Given the description of an element on the screen output the (x, y) to click on. 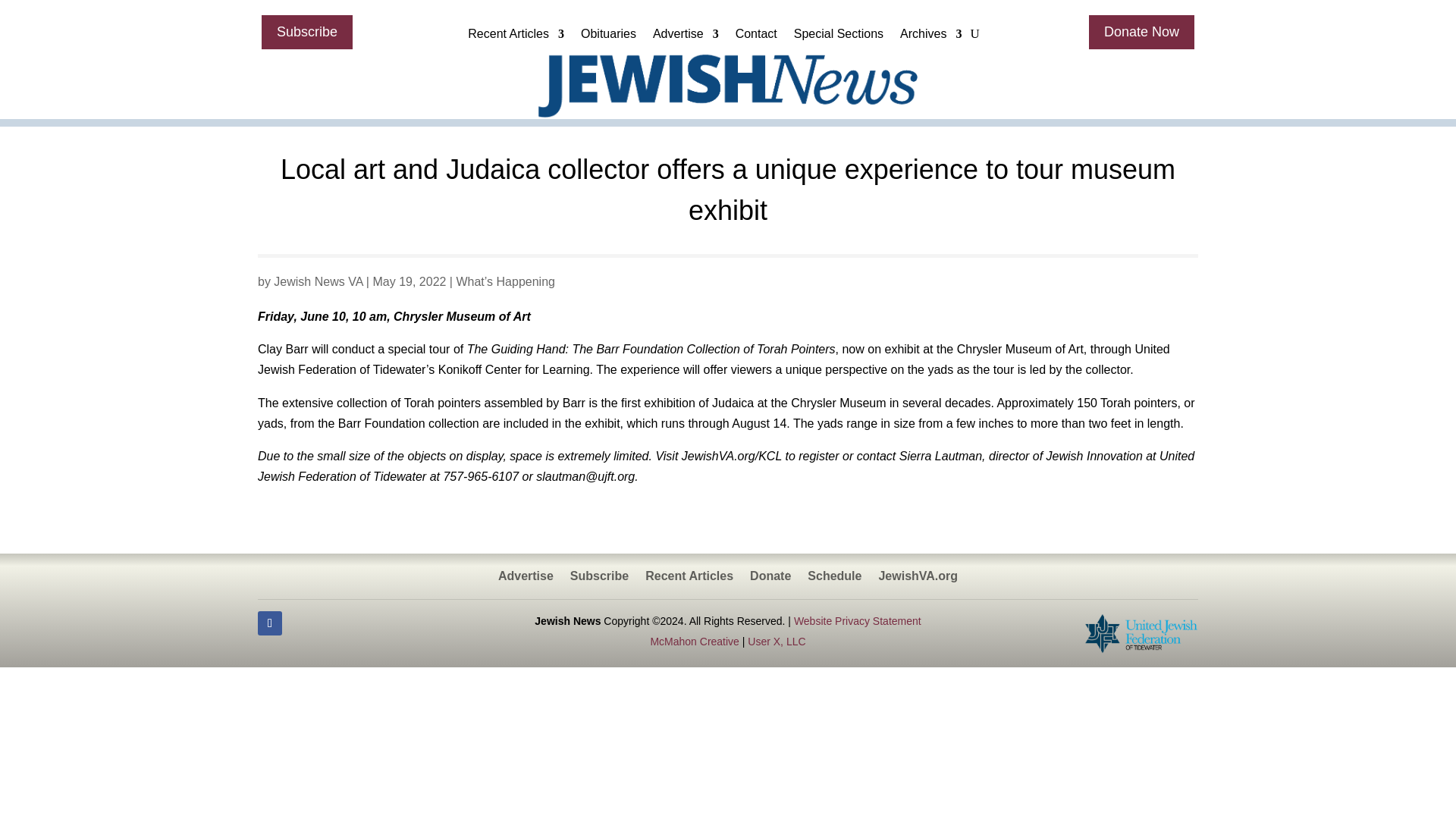
Posts by Jewish News VA (317, 281)
Recent Articles (515, 37)
Archives (929, 37)
Subscribe (307, 32)
Advertise (685, 37)
Contact (756, 37)
Obituaries (608, 37)
Donate Now (1141, 32)
Follow on Facebook (269, 622)
Special Sections (838, 37)
